Given the description of an element on the screen output the (x, y) to click on. 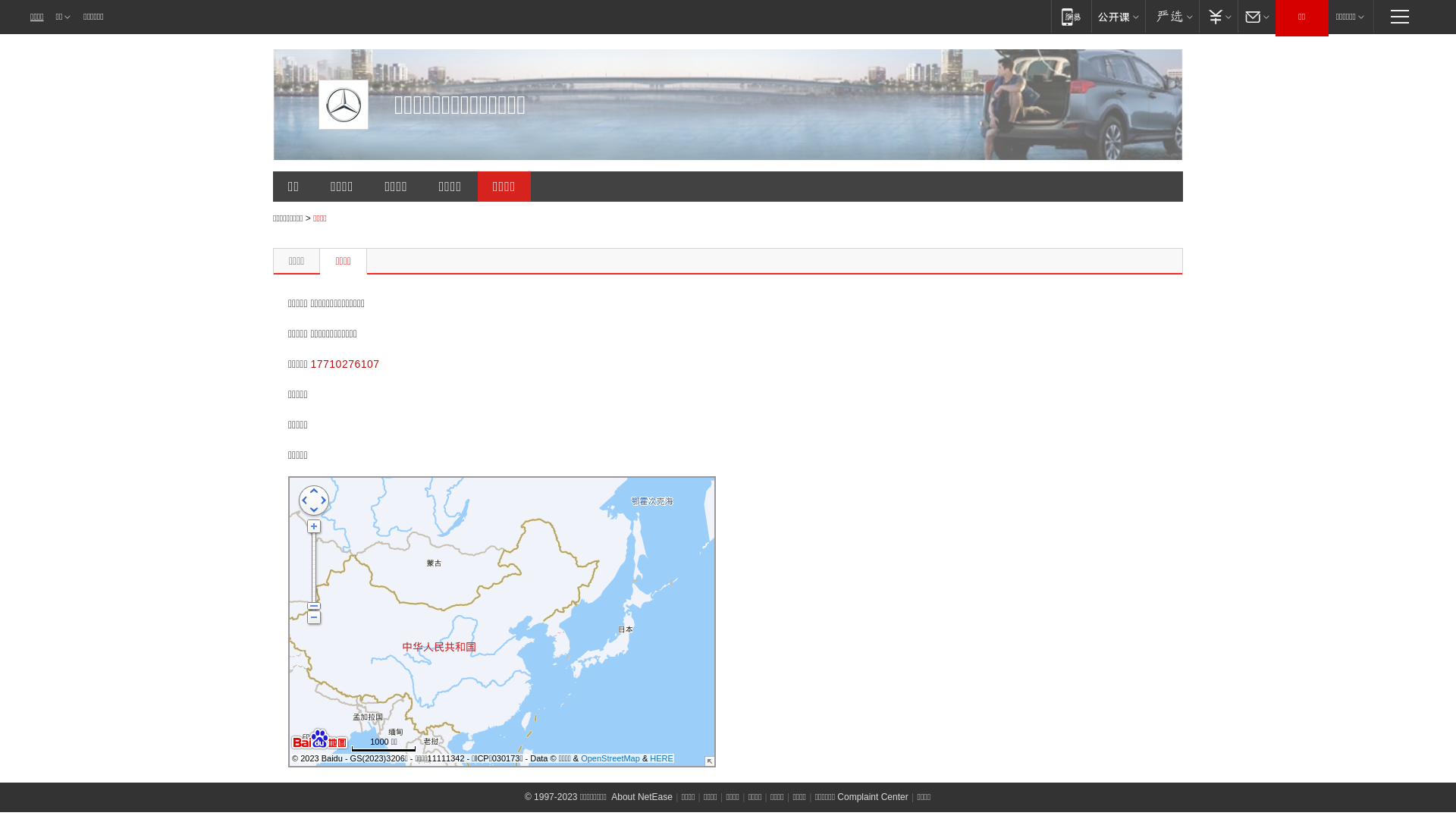
HERE Element type: text (661, 757)
About NetEase Element type: text (641, 796)
OpenStreetMap Element type: text (610, 757)
